Given the description of an element on the screen output the (x, y) to click on. 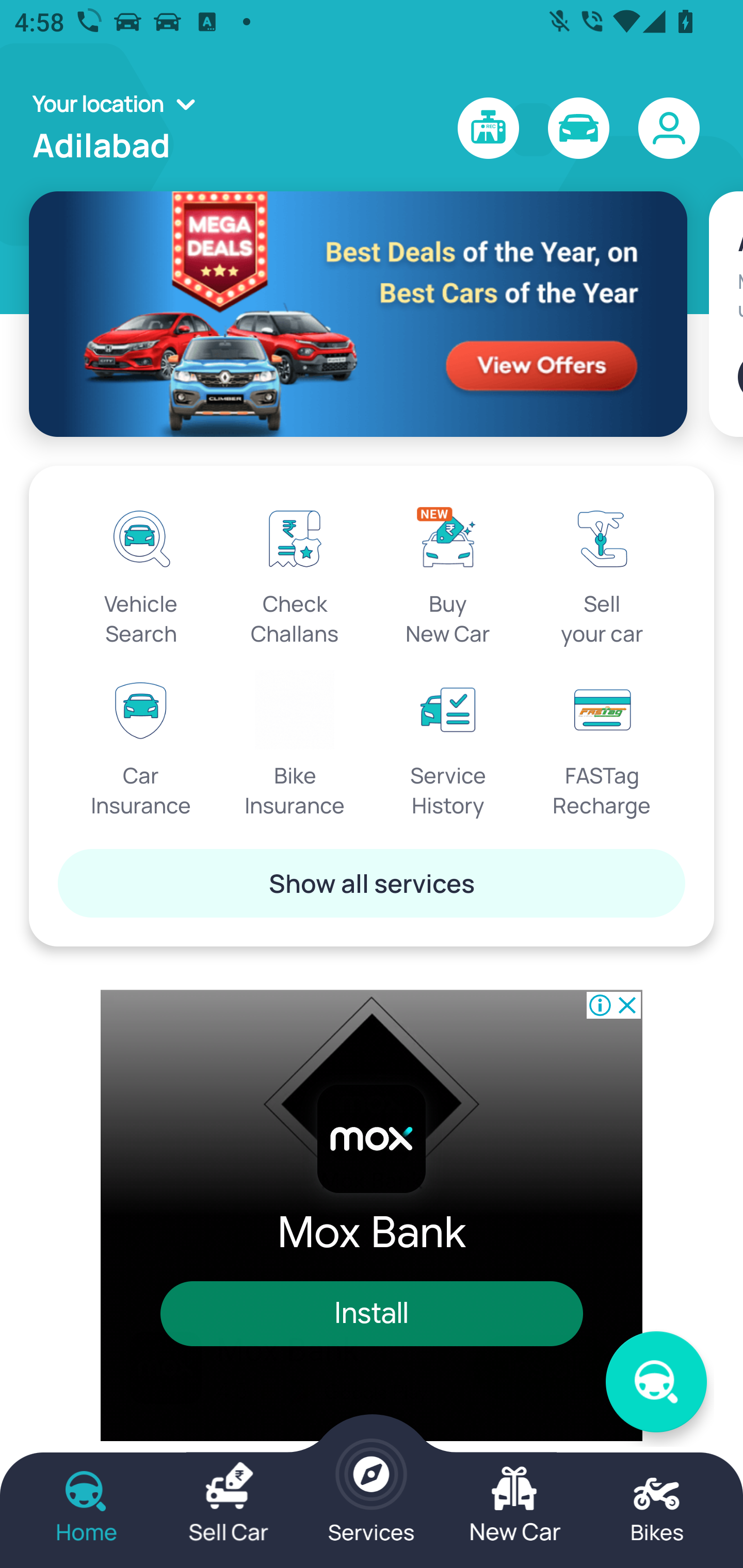
Your location Adilabad (119, 128)
Add vehicle (740, 376)
Vehicle
Search (141, 572)
Check
Challans (294, 572)
Buy
New Car (447, 572)
Sell
your car (601, 572)
Car
Insurance (141, 744)
Bike
Insurance (294, 744)
Service
History (447, 744)
FASTag Recharge (601, 744)
Show all services (371, 882)
Install (371, 1312)
